Given the description of an element on the screen output the (x, y) to click on. 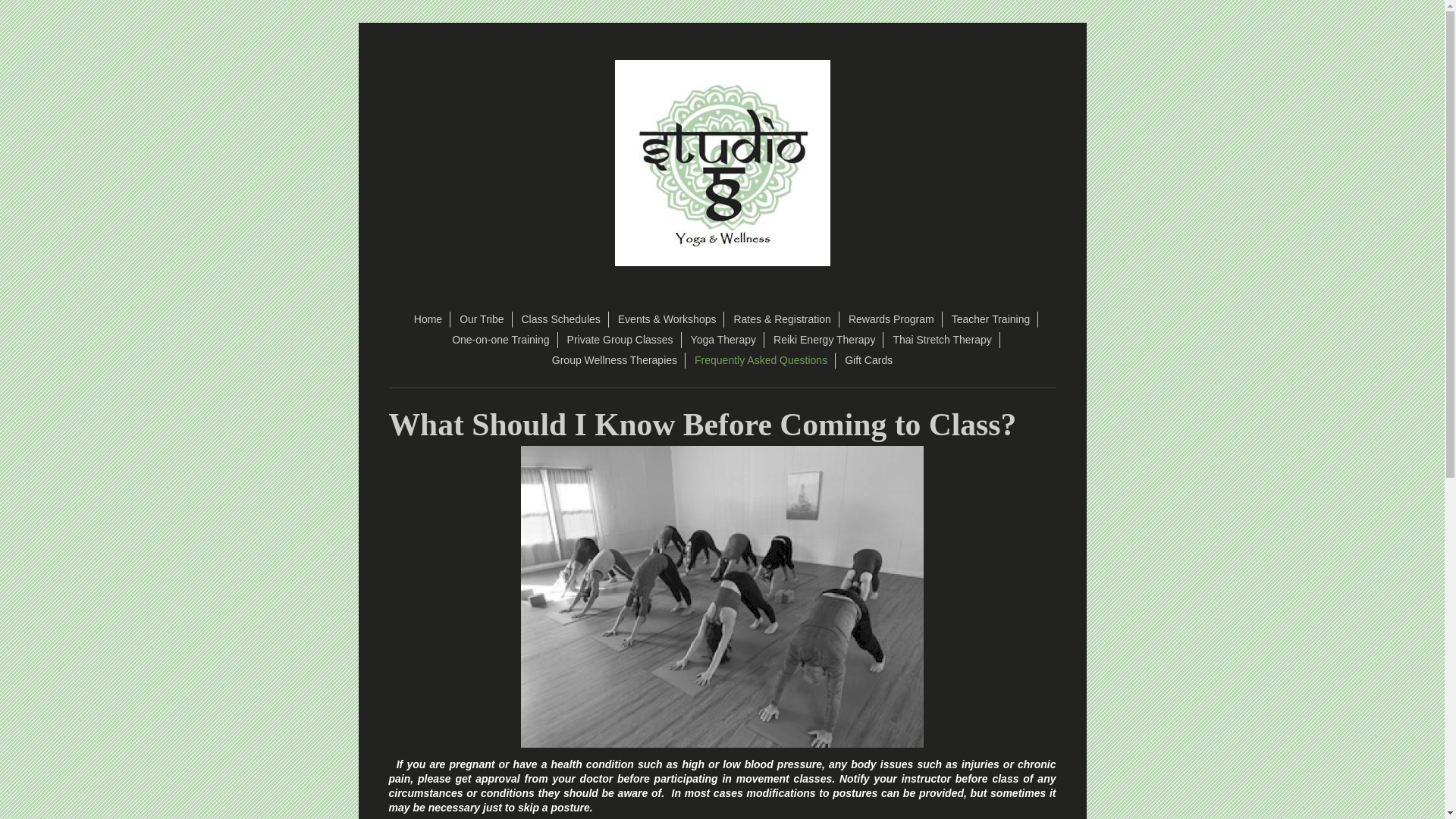
Our Tribe (481, 319)
Thai Stretch Therapy (941, 340)
Yoga Therapy (723, 340)
Home (427, 319)
Rewards Program (891, 319)
Reiki Energy Therapy (824, 340)
Teacher Training (991, 319)
Private Group Classes (620, 340)
Class Schedules (560, 319)
Group Wellness Therapies (614, 360)
